Given the description of an element on the screen output the (x, y) to click on. 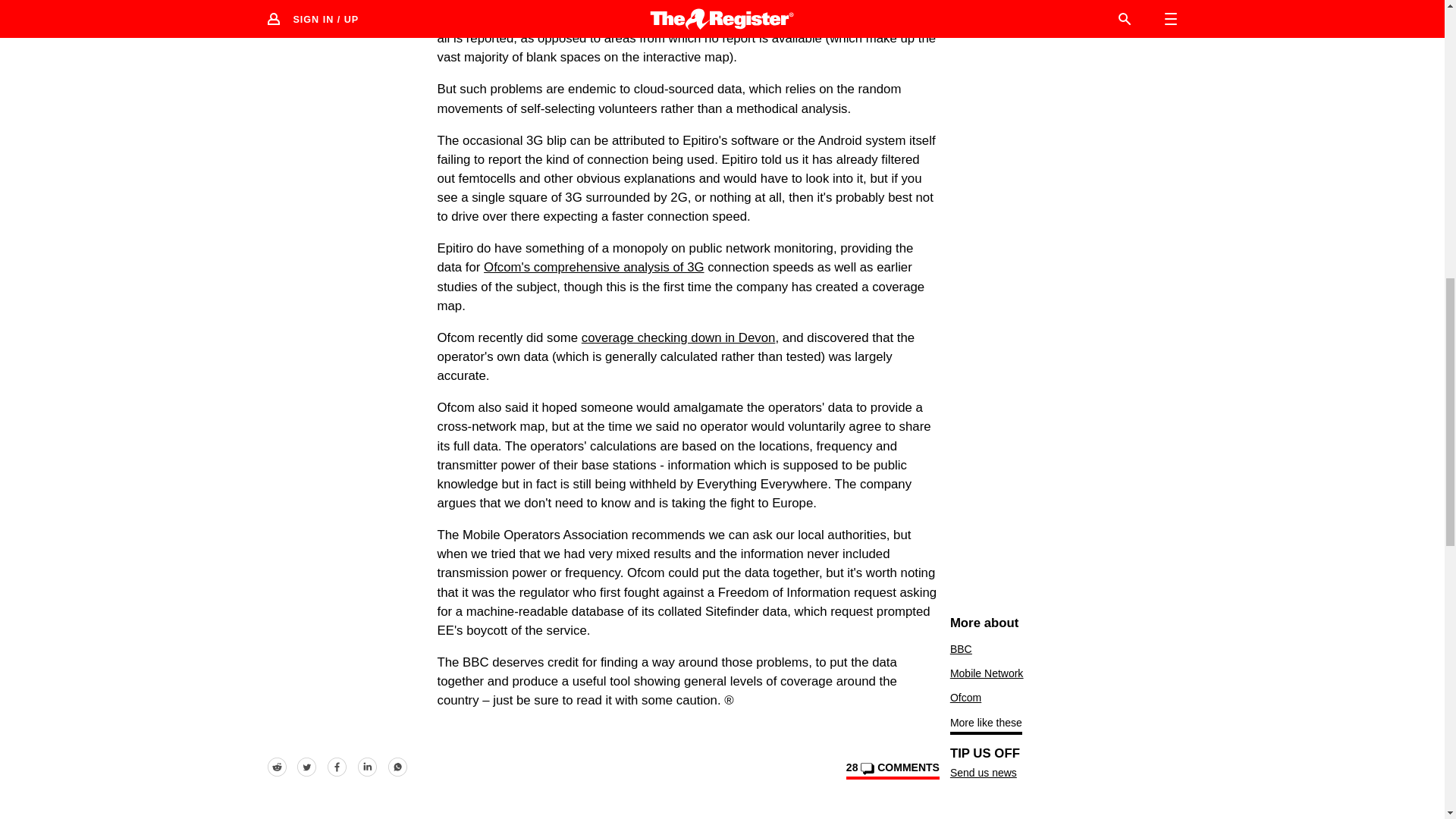
View comments on this article (892, 770)
